Given the description of an element on the screen output the (x, y) to click on. 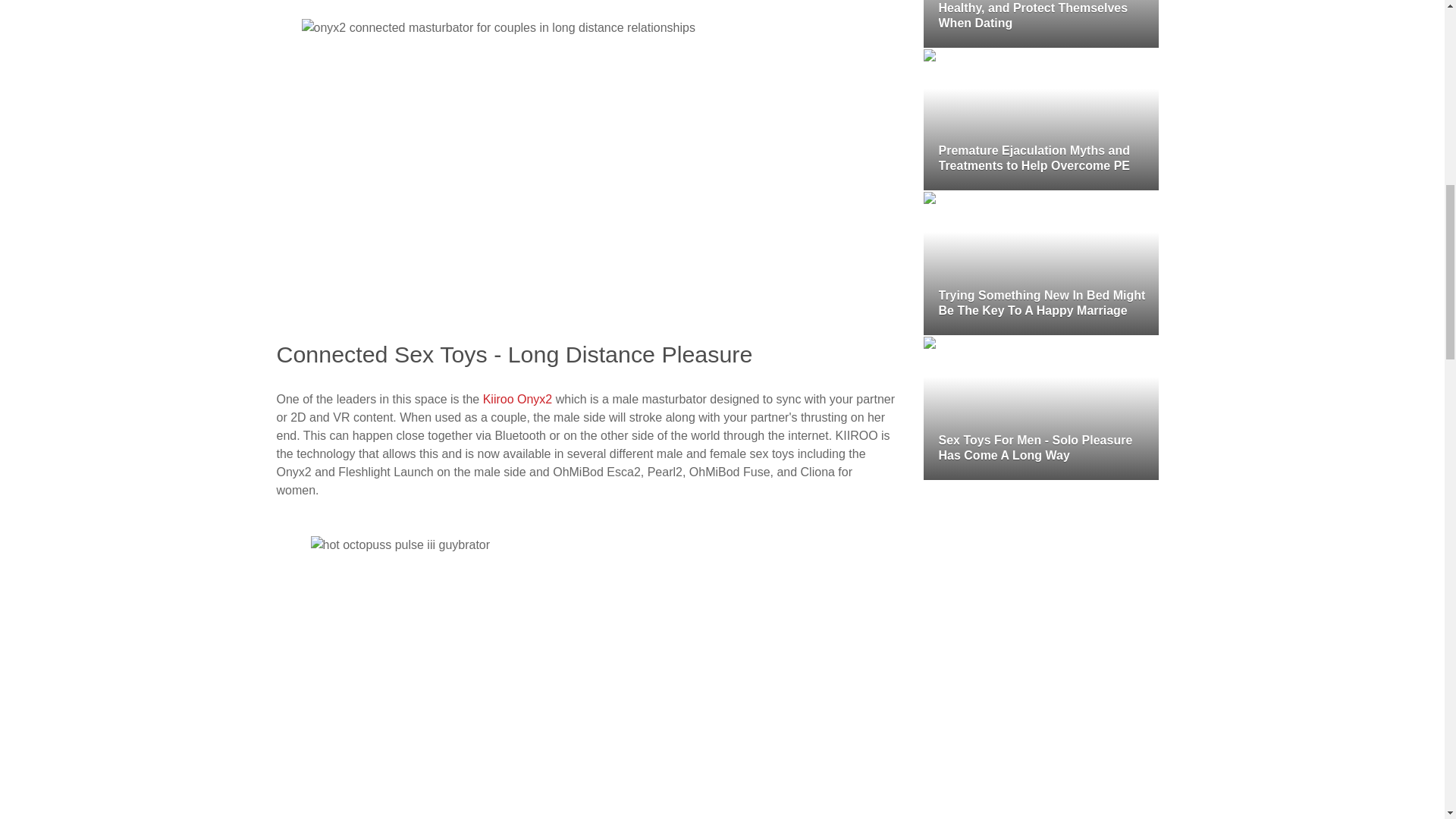
Kiiroo Onyx2 (518, 399)
Sex Toys For Men - Solo Pleasure Has Come A Long Way (1040, 407)
